Given the description of an element on the screen output the (x, y) to click on. 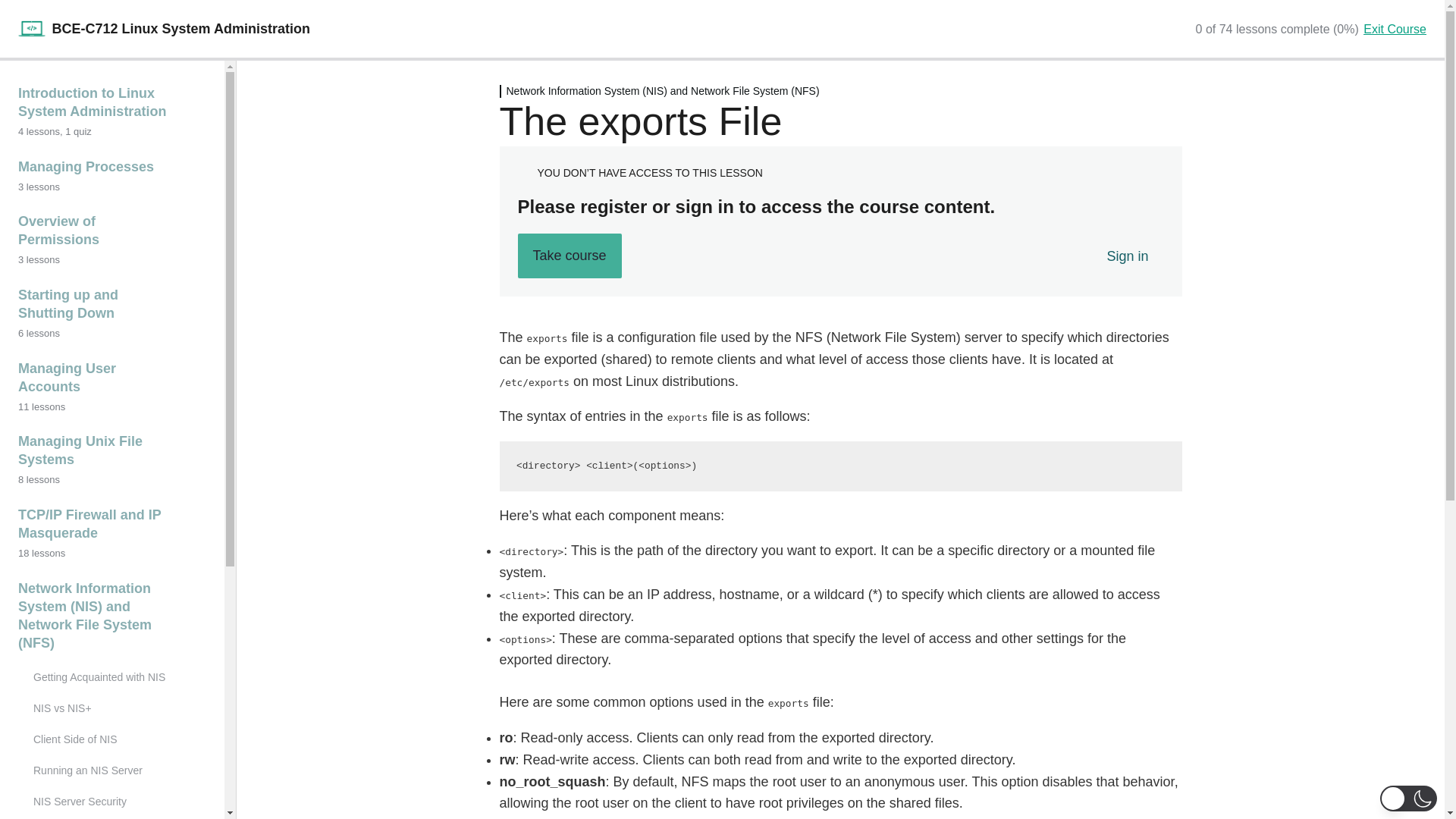
Introduction to Linux System Administration (111, 103)
Starting up and Shutting Down (111, 304)
Managing Processes (111, 167)
Managing User Accounts (111, 378)
Managing Unix File Systems (111, 451)
Overview of Permissions (111, 230)
Exit Course (1394, 29)
